Given the description of an element on the screen output the (x, y) to click on. 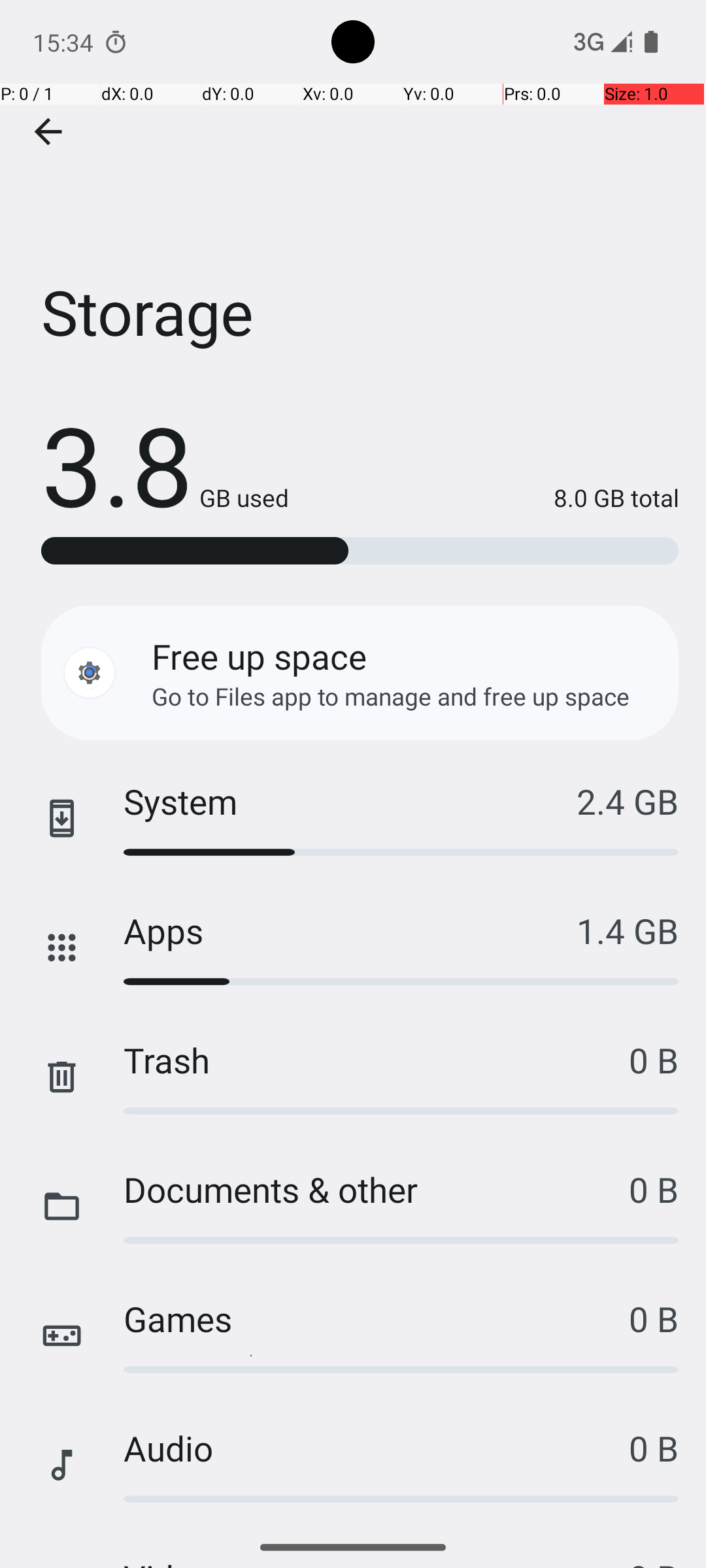
2.4 GB Element type: android.widget.TextView (627, 801)
